Given the description of an element on the screen output the (x, y) to click on. 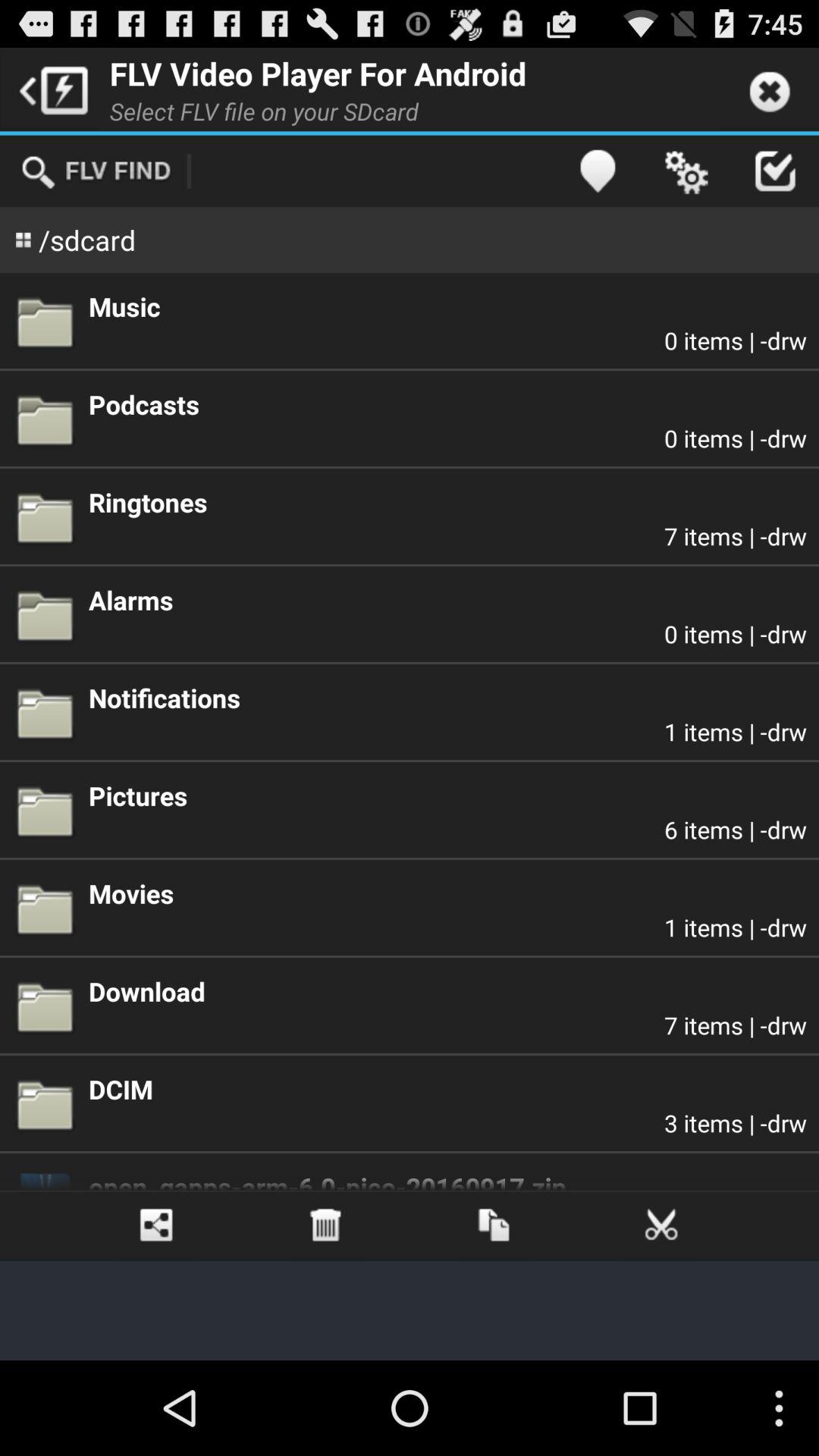
press item above /sdcard app (95, 171)
